Given the description of an element on the screen output the (x, y) to click on. 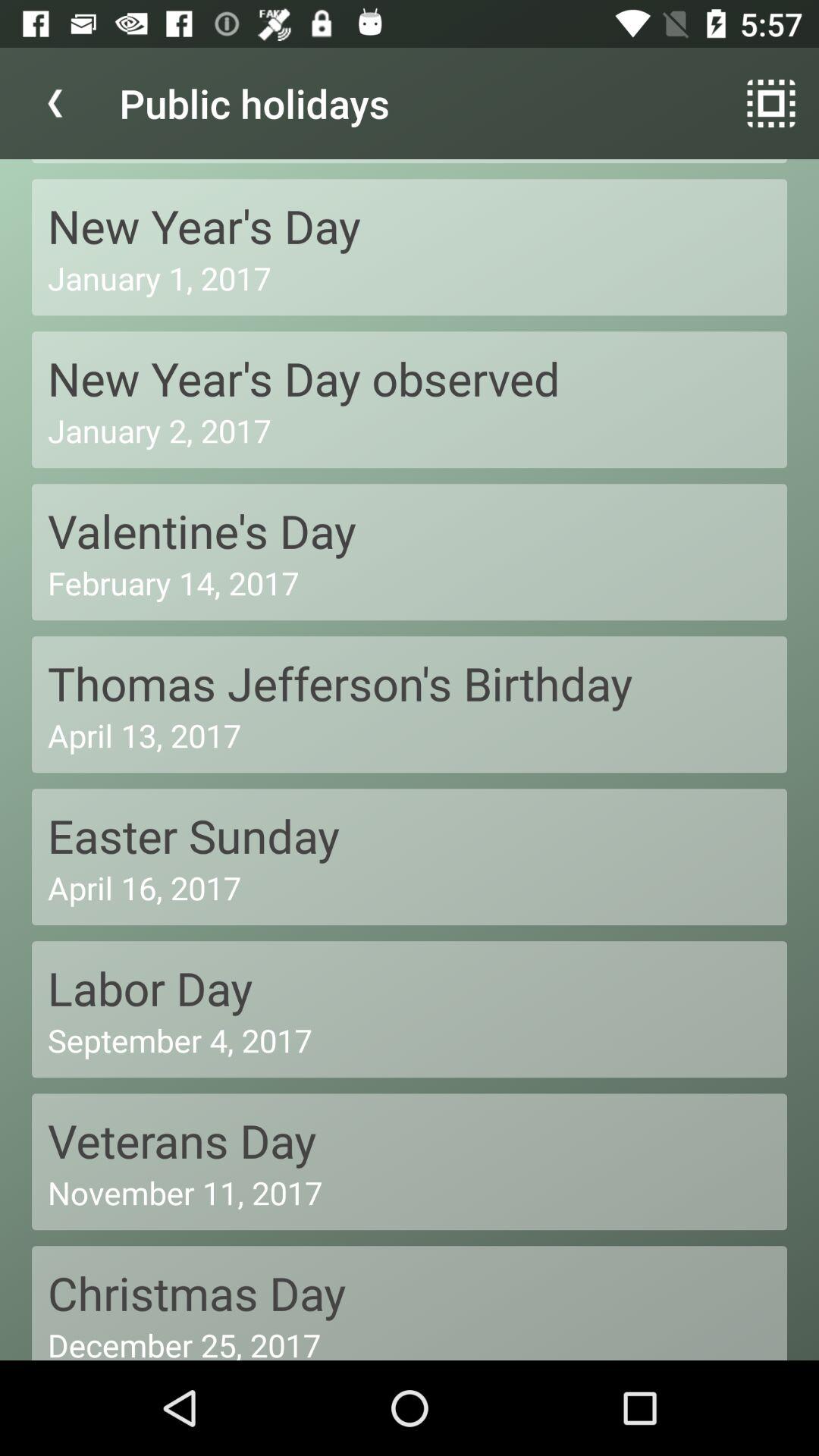
select app to the left of the public holidays icon (55, 103)
